Given the description of an element on the screen output the (x, y) to click on. 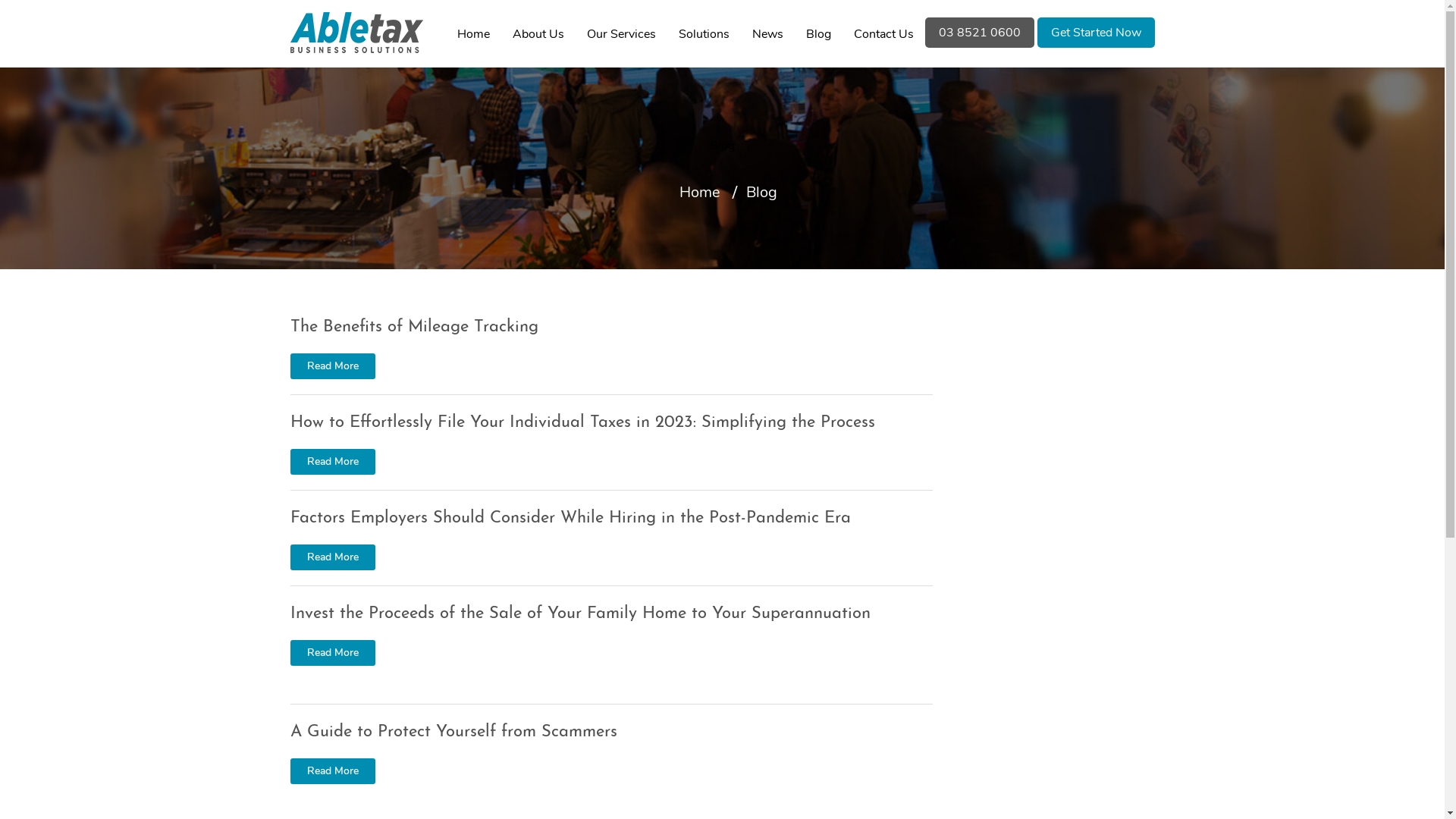
Home Element type: text (699, 192)
Our Services Element type: text (620, 33)
About Us Element type: text (538, 33)
Home Element type: text (472, 33)
Blog Element type: text (817, 33)
Read More Element type: text (331, 461)
A Guide to Protect Yourself from Scammers Element type: text (452, 731)
Contact Us Element type: text (883, 33)
Solutions Element type: text (702, 33)
03 8521 0600 Element type: text (979, 32)
Read More Element type: text (331, 557)
The Benefits of Mileage Tracking Element type: text (413, 326)
News Element type: text (767, 33)
Read More Element type: text (331, 366)
Read More Element type: text (331, 771)
Read More Element type: text (331, 652)
Blog Element type: text (761, 192)
Get Started Now Element type: text (1095, 32)
